Given the description of an element on the screen output the (x, y) to click on. 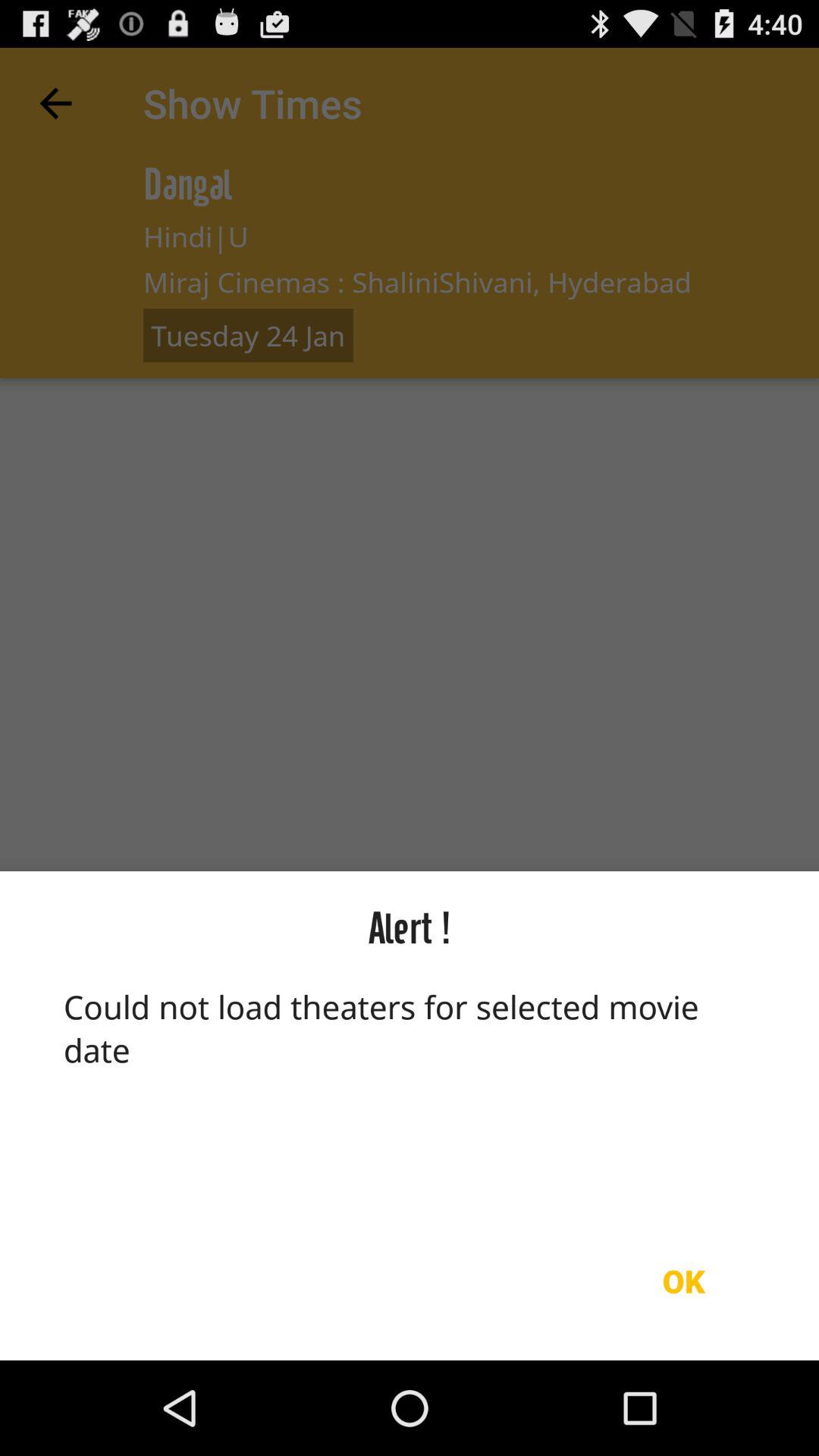
tap the item at the bottom right corner (683, 1280)
